Given the description of an element on the screen output the (x, y) to click on. 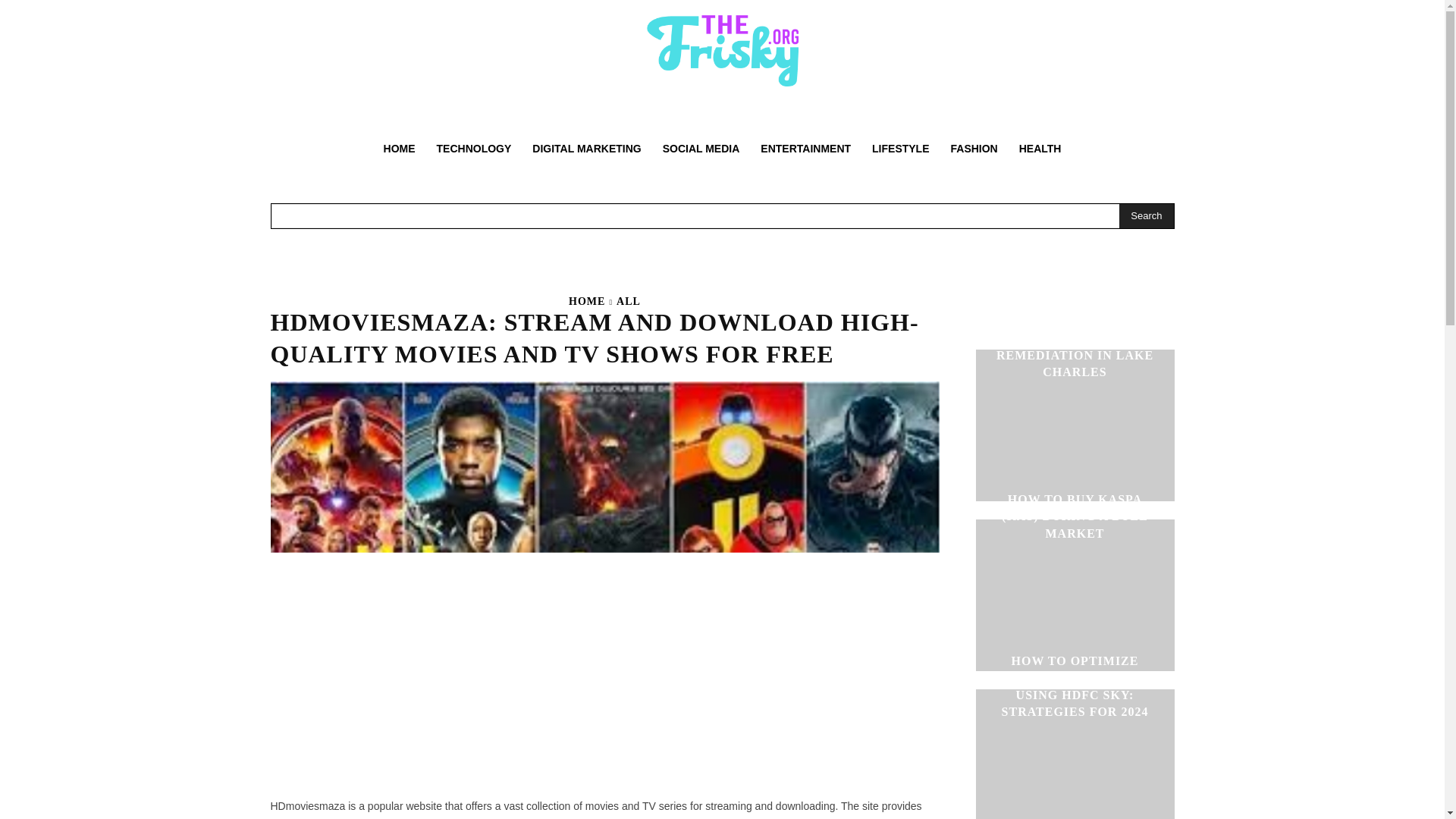
TECHNOLOGY (474, 148)
FASHION (974, 148)
HOME (587, 301)
Search (1146, 215)
The Definitive Guide to Mold Remediation in Lake Charles (1074, 425)
HOME (399, 148)
SOCIAL MEDIA (701, 148)
ENTERTAINMENT (805, 148)
View all posts in All (627, 301)
DIGITAL MARKETING (585, 148)
